Given the description of an element on the screen output the (x, y) to click on. 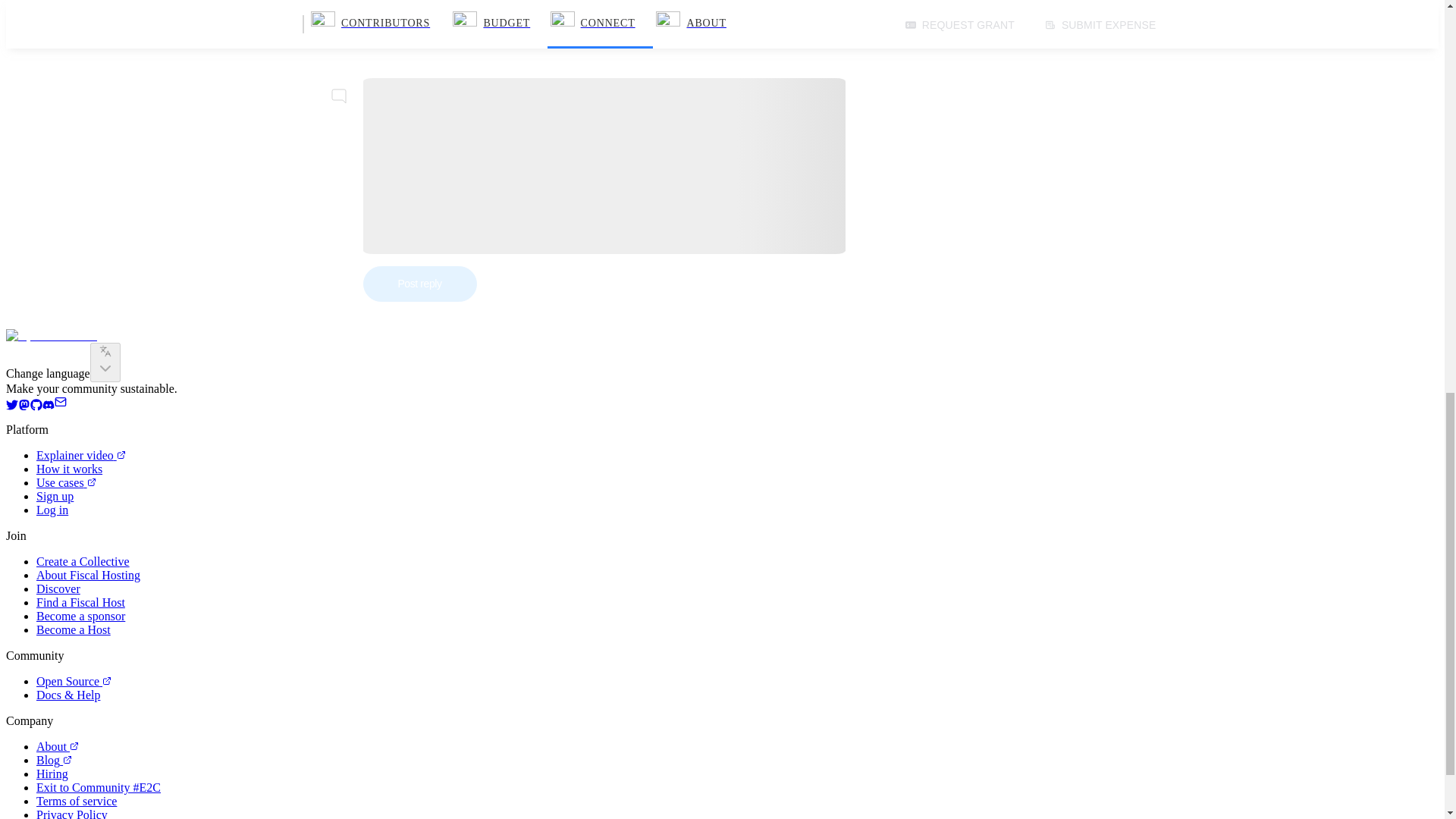
About (57, 746)
View latest updates (354, 27)
View latest updates (379, 27)
Find a Fiscal Host (80, 602)
Create a Collective (82, 561)
Use cases (66, 481)
Privacy Policy (71, 813)
Explainer video (80, 454)
Hiring (52, 773)
Terms of service (76, 800)
Become a Host (73, 629)
Log in (52, 509)
Open Source (74, 680)
Post reply (419, 284)
Blog (53, 759)
